Given the description of an element on the screen output the (x, y) to click on. 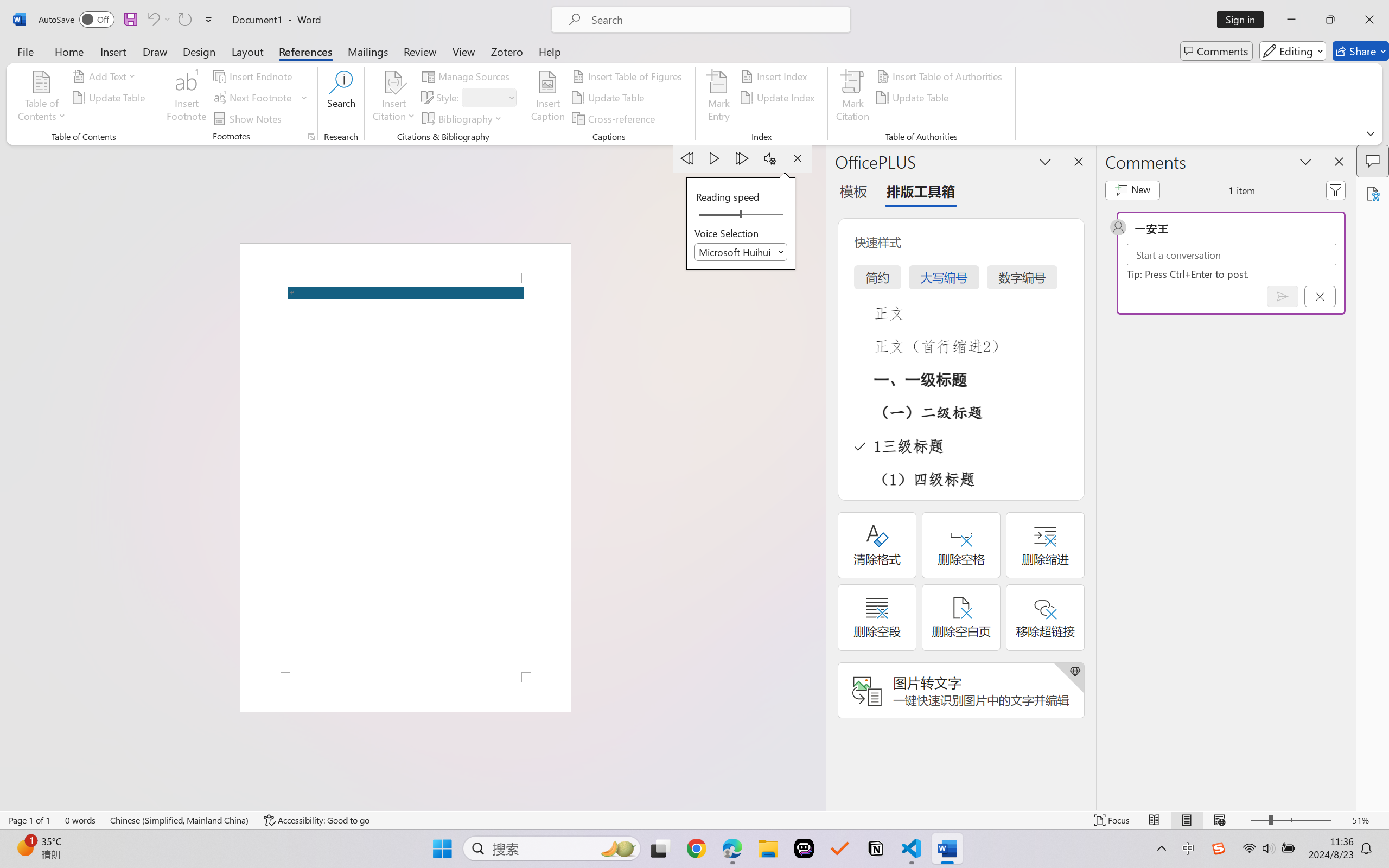
Sign in (1244, 19)
Page right (765, 214)
Stop (797, 158)
New comment (1132, 190)
Style (483, 96)
Accessibility Assistant (1373, 193)
